Given the description of an element on the screen output the (x, y) to click on. 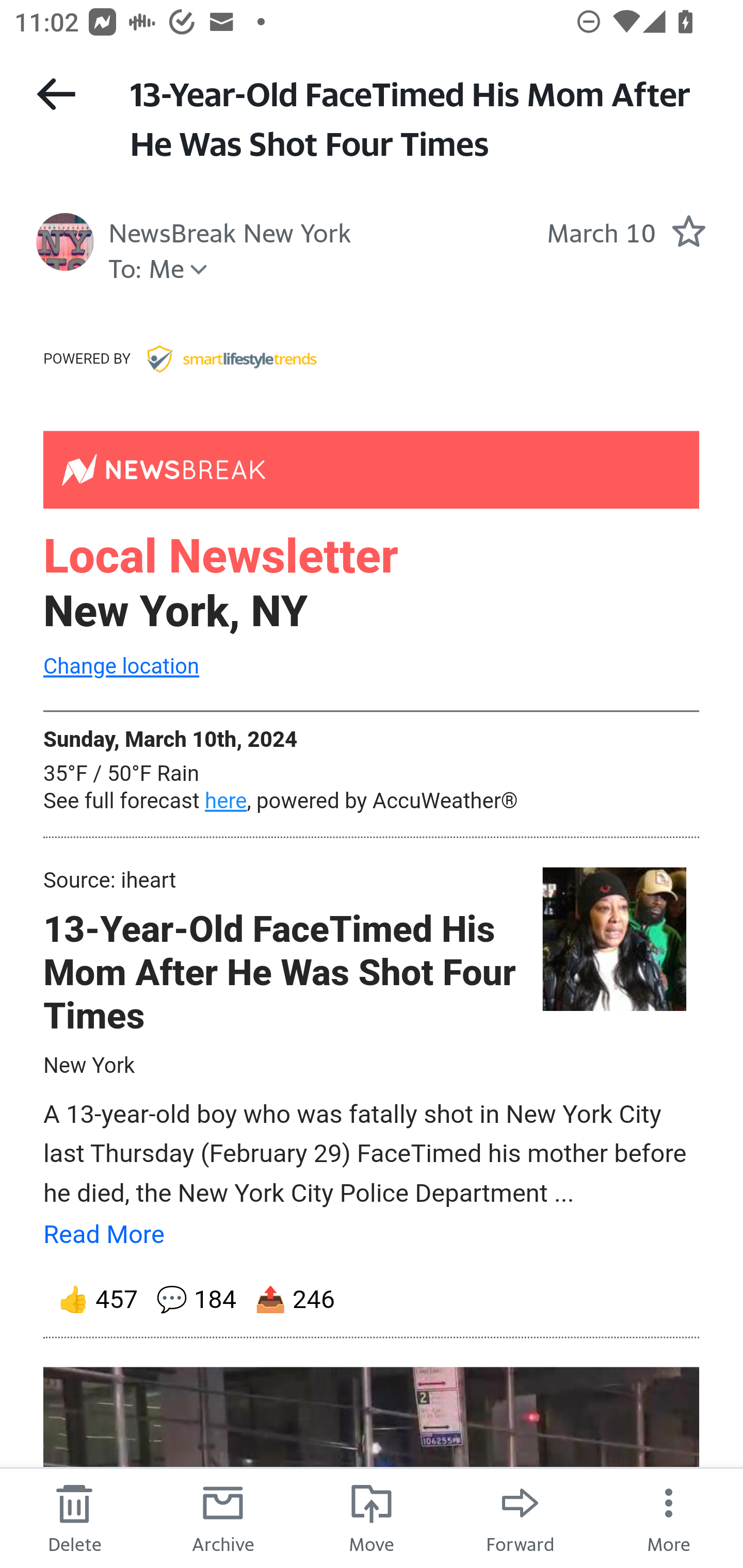
Back (55, 93)
Profile (64, 242)
NewsBreak New York Sender NewsBreak New York (230, 231)
Mark as starred. (688, 231)
info (231, 357)
NewsBreak (371, 468)
Change location (121, 666)
here (225, 800)
1 local news image (613, 939)
👍 457   💬 184   📤 246 (371, 1298)
Delete (74, 1517)
Archive (222, 1517)
Move (371, 1517)
Forward (519, 1517)
More (668, 1517)
